Given the description of an element on the screen output the (x, y) to click on. 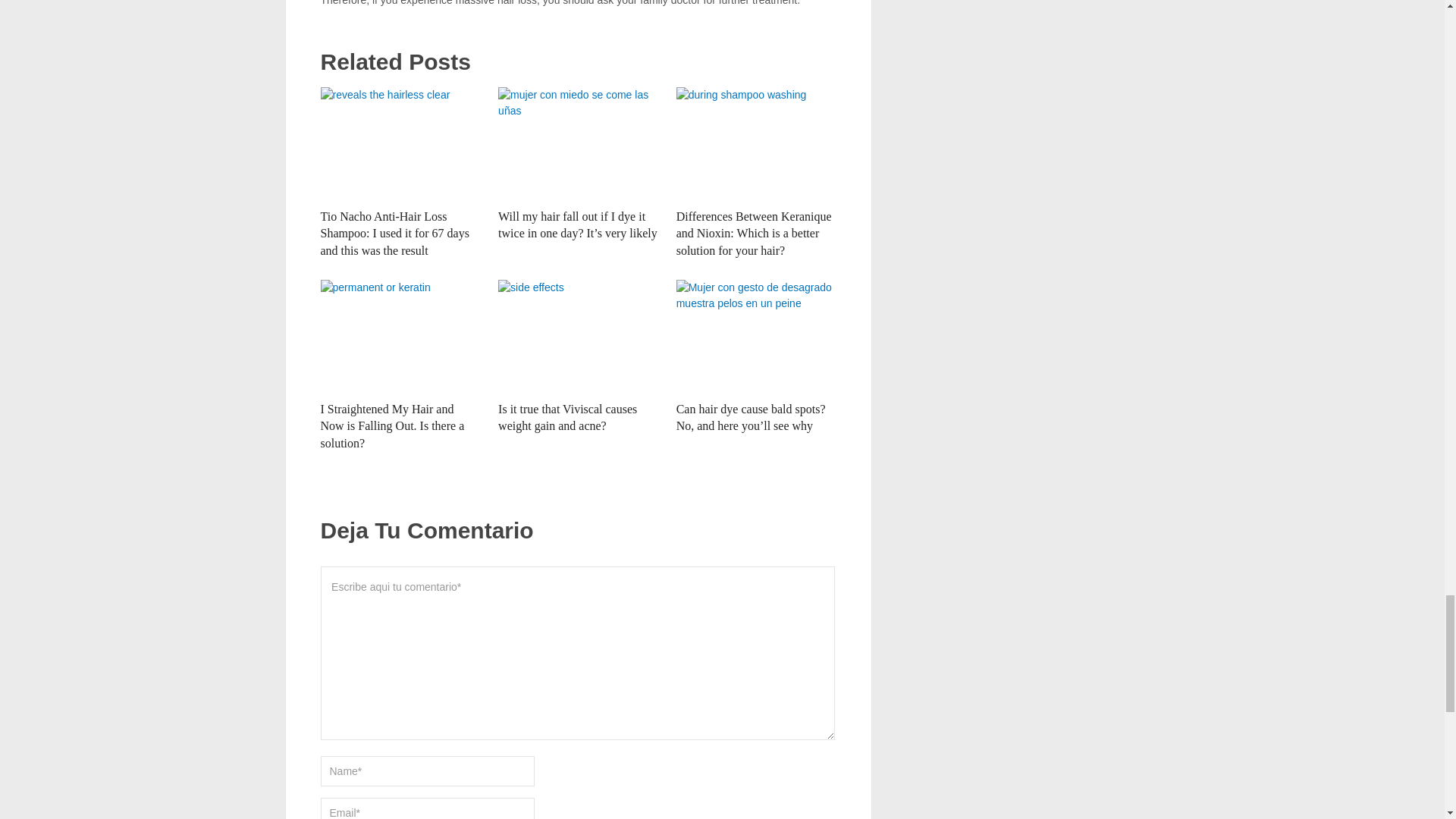
Is it true that Viviscal causes weight gain and acne? (567, 417)
Is it true that Viviscal causes weight gain and acne? (567, 417)
Is it true that Viviscal causes weight gain and acne? (577, 336)
